Given the description of an element on the screen output the (x, y) to click on. 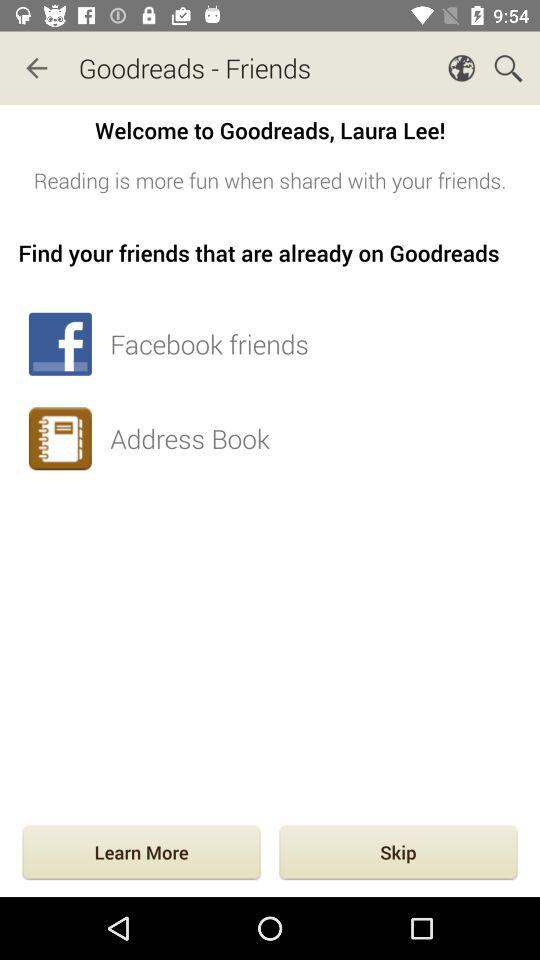
turn off the icon below the address book item (398, 854)
